Given the description of an element on the screen output the (x, y) to click on. 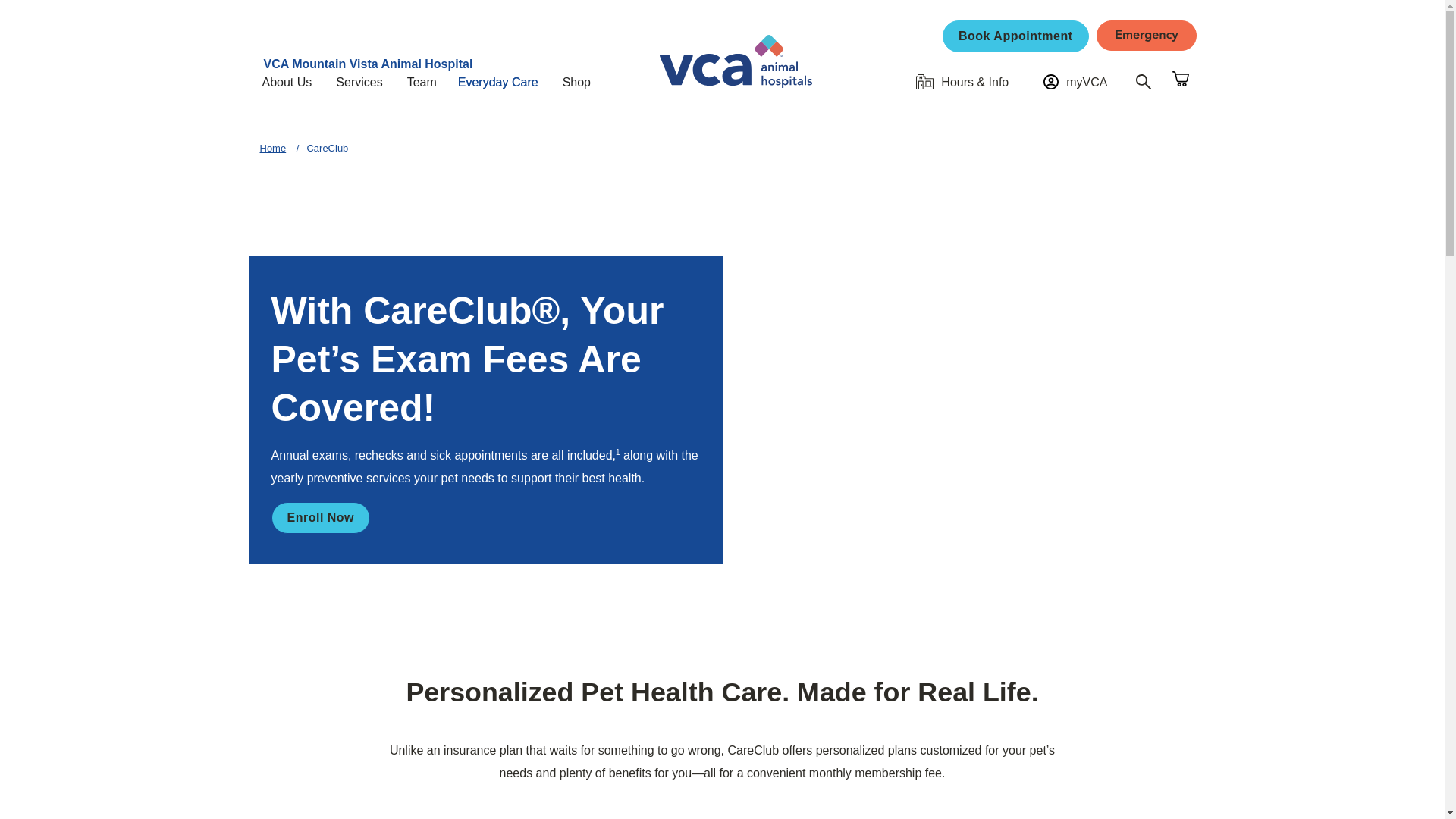
About Us (293, 82)
Services (365, 82)
